Given the description of an element on the screen output the (x, y) to click on. 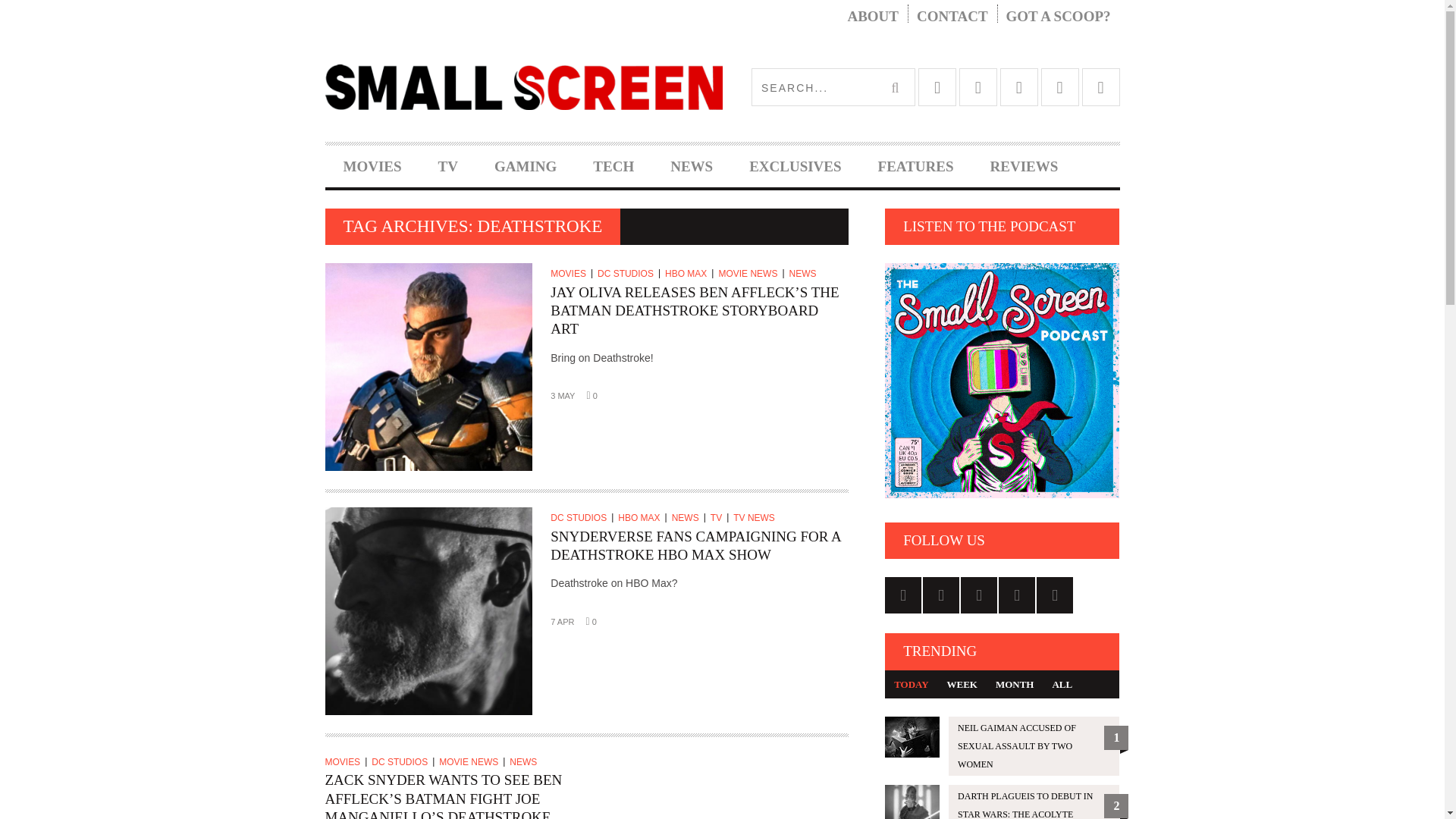
View all posts in TV NEWS (755, 517)
ABOUT (872, 16)
View all posts in NEWS (525, 761)
View all posts in MOVIE NEWS (750, 273)
View all posts in DC STUDIOS (628, 273)
GOT A SCOOP? (1058, 16)
View all posts in MOVIES (345, 761)
Small Screen (523, 86)
View all posts in MOVIE NEWS (472, 761)
View all posts in TV (719, 517)
View all posts in HBO MAX (689, 273)
View all posts in HBO MAX (641, 517)
View all posts in MOVIES (571, 273)
View all posts in NEWS (688, 517)
CONTACT (952, 16)
